Given the description of an element on the screen output the (x, y) to click on. 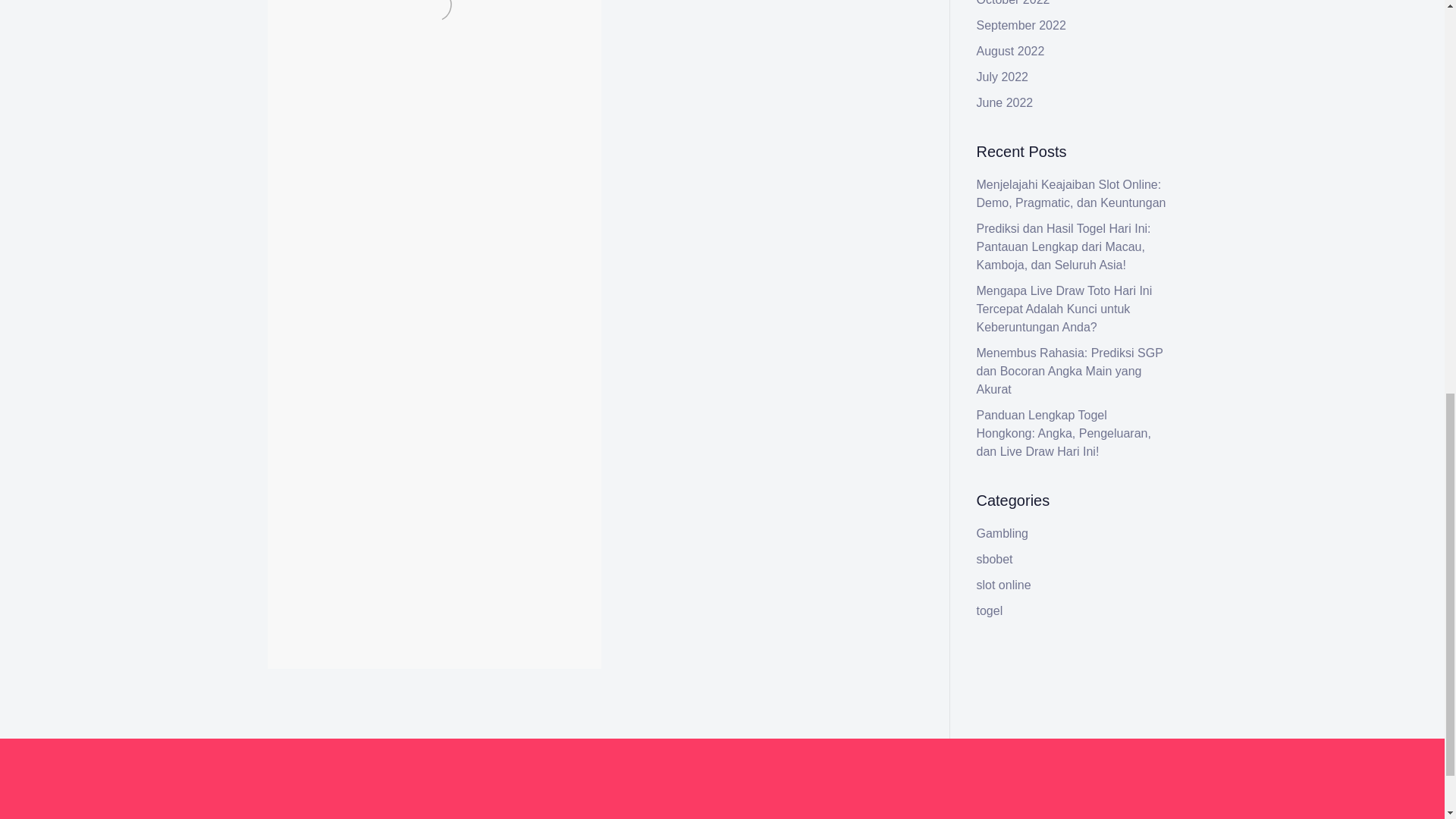
togel online (456, 119)
August 2022 (1010, 51)
July 2022 (1002, 76)
October 2022 (1012, 2)
June 2022 (1004, 102)
September 2022 (1020, 24)
